Given the description of an element on the screen output the (x, y) to click on. 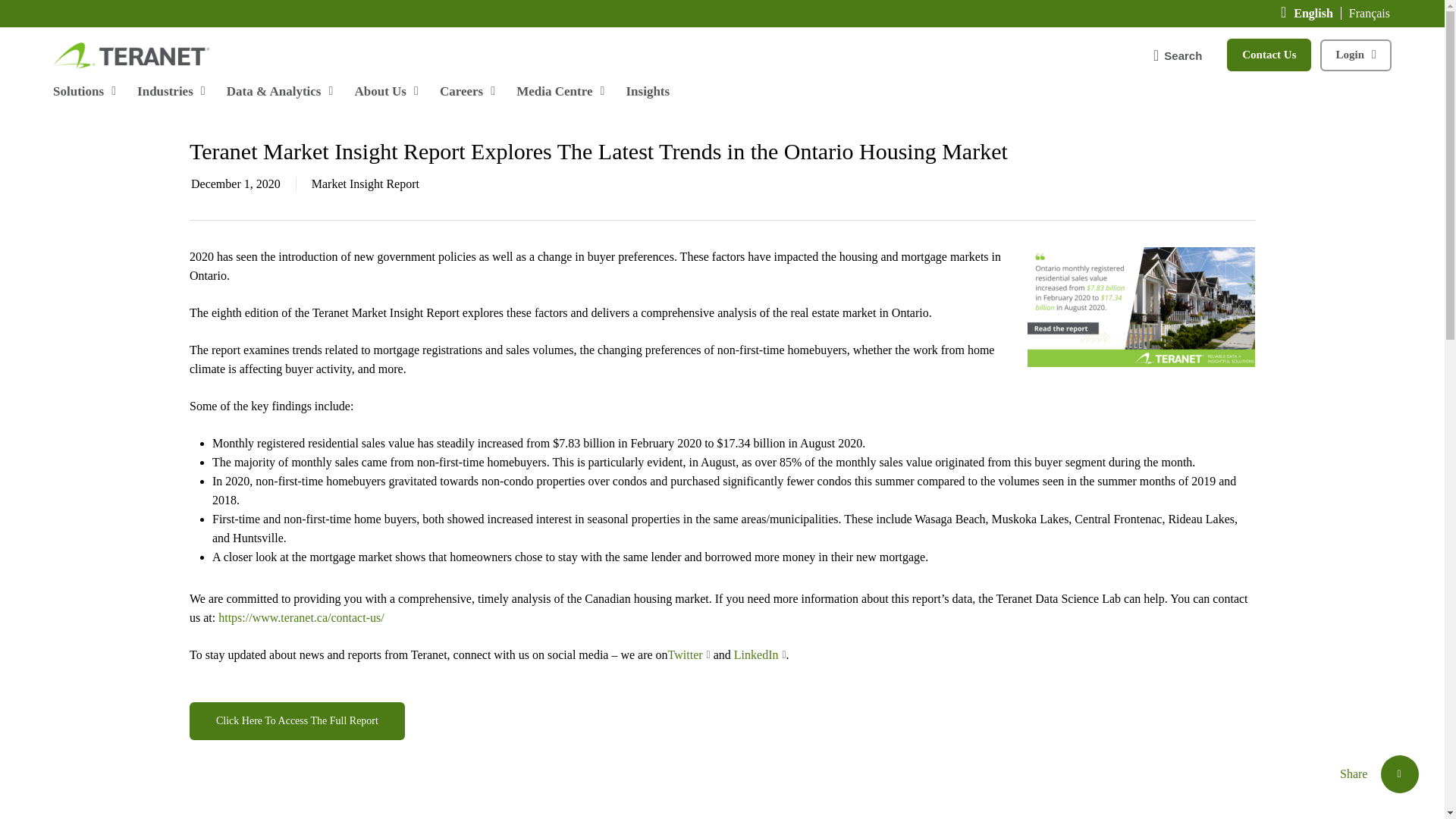
Contact Us (1269, 53)
Solutions (85, 91)
Login (1355, 53)
English (1317, 12)
